Given the description of an element on the screen output the (x, y) to click on. 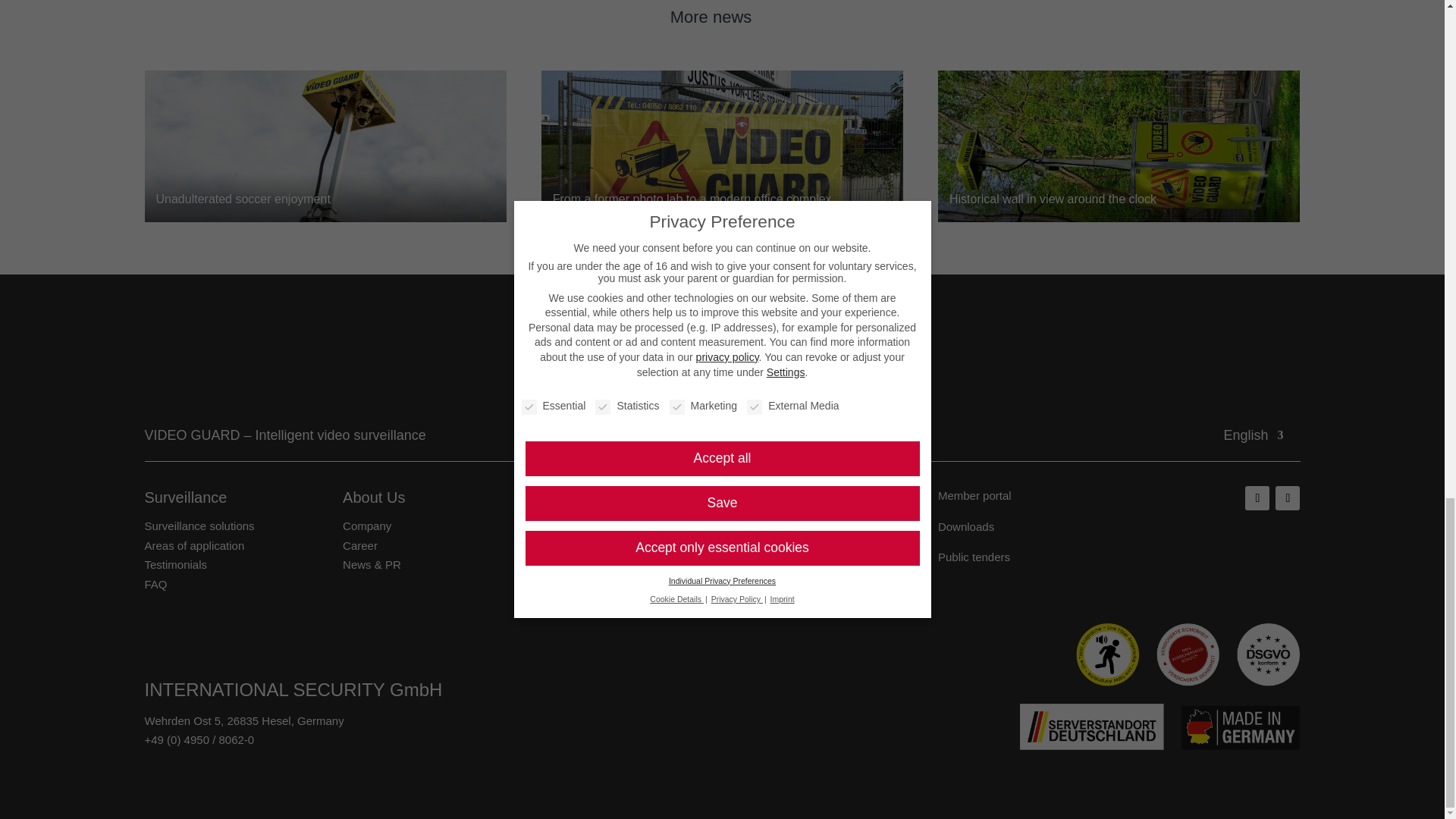
Unadulterated soccer enjoyment (325, 145)
From a former photo lab to a modern office complex (722, 145)
Historical wall in view around the clock (1118, 145)
VIDEO GUARD (722, 374)
